Given the description of an element on the screen output the (x, y) to click on. 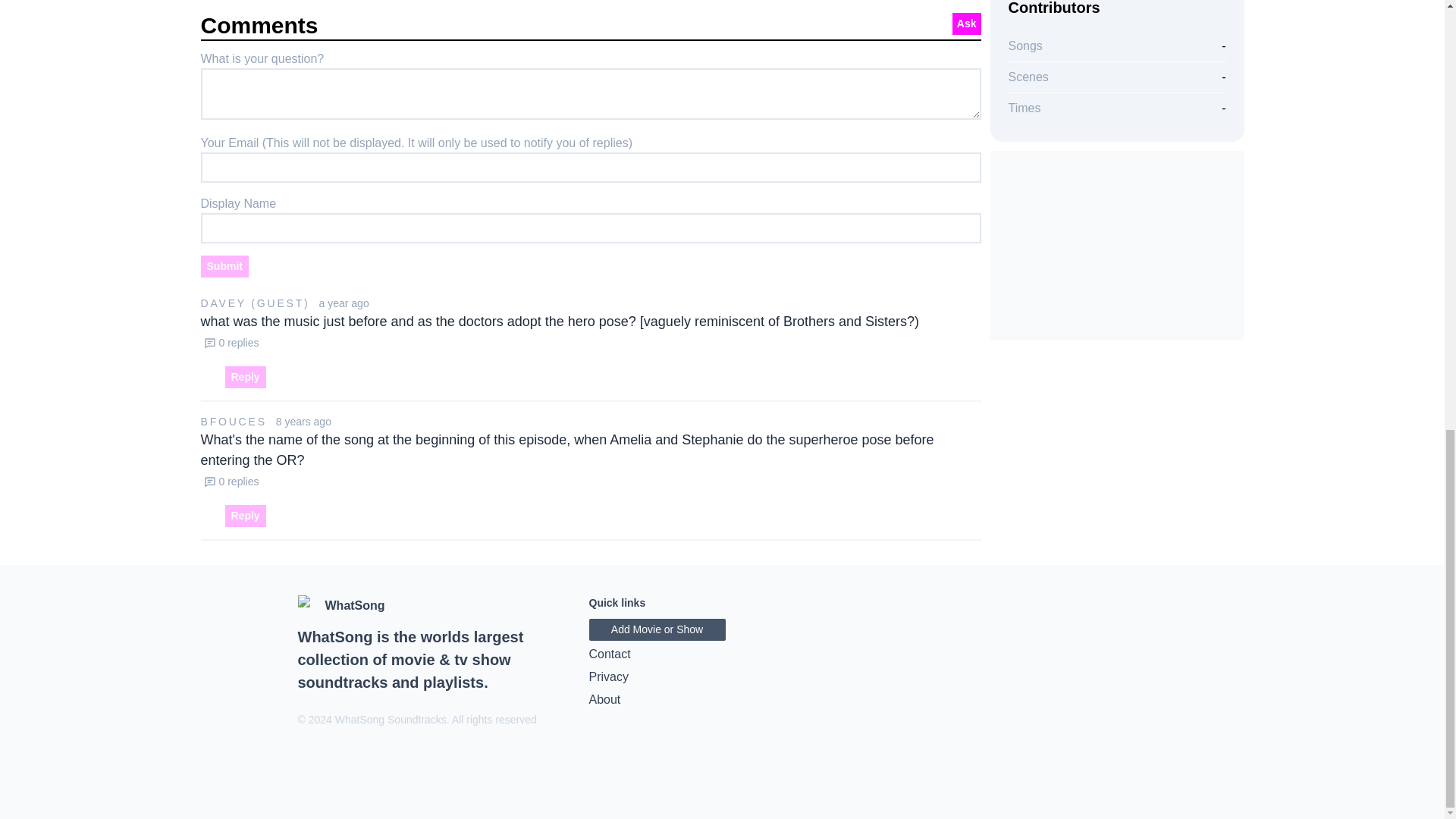
Privacy (722, 677)
Add Movie or Show (656, 629)
About (722, 700)
Submit (223, 266)
Ask (966, 24)
Reply (244, 377)
Contact (722, 654)
Reply (244, 516)
